Given the description of an element on the screen output the (x, y) to click on. 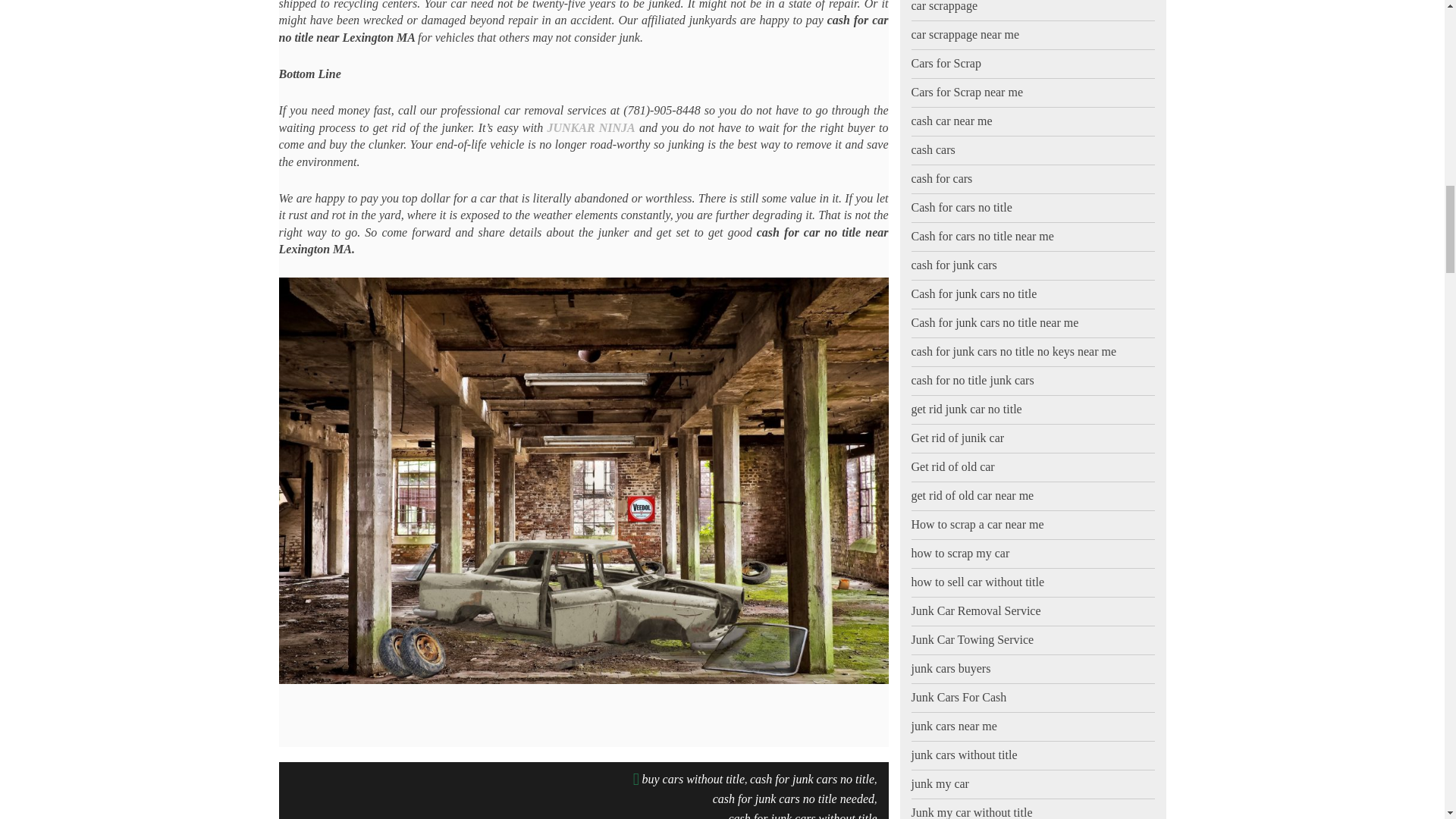
JUNKAR NINJA (590, 127)
cash for junk cars no title Tag (812, 779)
buy cars without title Tag (693, 779)
cash for junk cars without title (802, 813)
cash for junk cars without title Tag (802, 813)
cash for junk cars no title needed (794, 799)
cash for junk cars no title needed Tag (794, 799)
buy cars without title (693, 779)
cash for junk cars no title (812, 779)
